Given the description of an element on the screen output the (x, y) to click on. 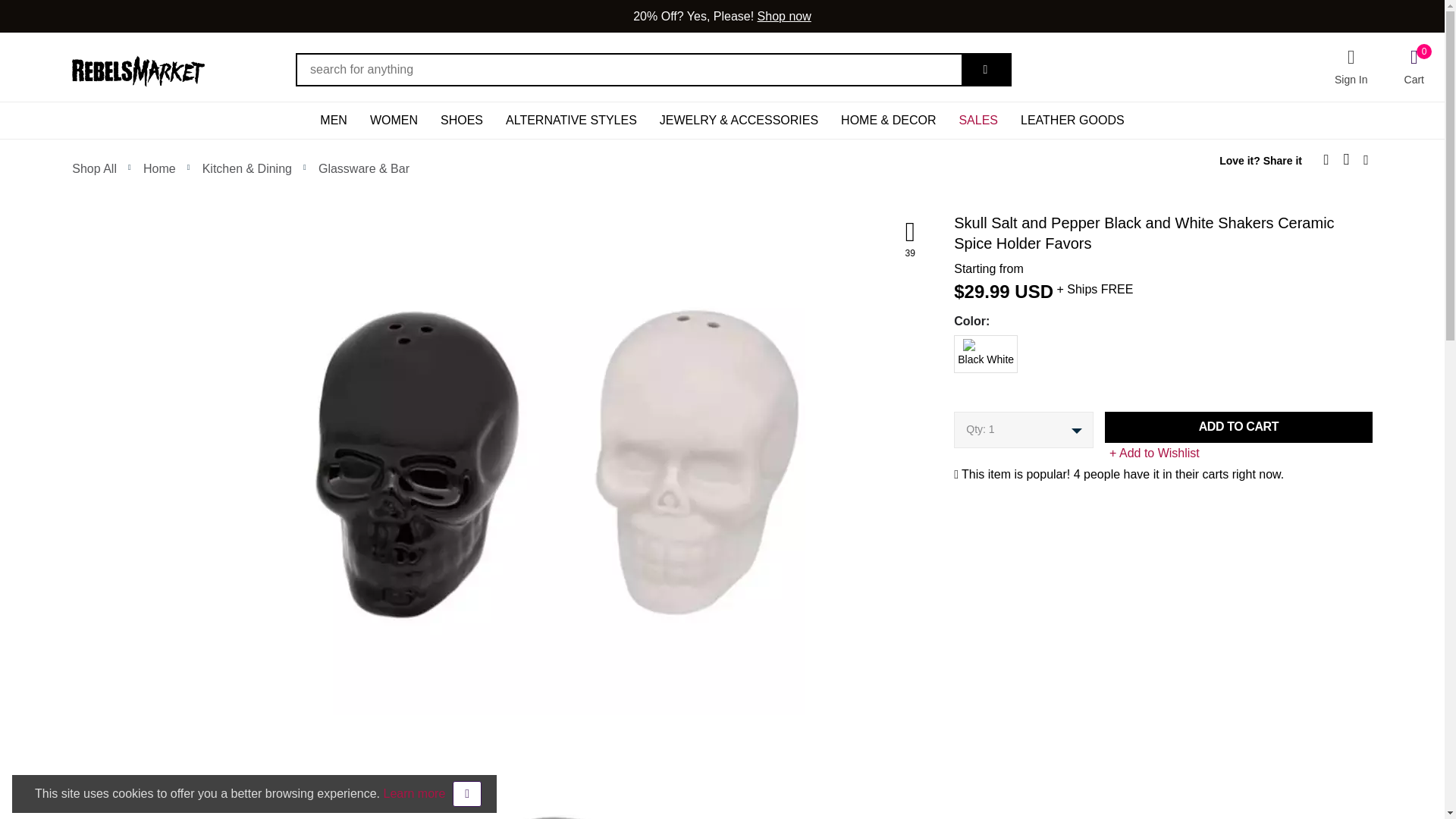
WOMEN (393, 119)
MEN (1414, 64)
USD (333, 119)
Sign In (1033, 291)
Black White (1351, 66)
29.99 (949, 345)
